Given the description of an element on the screen output the (x, y) to click on. 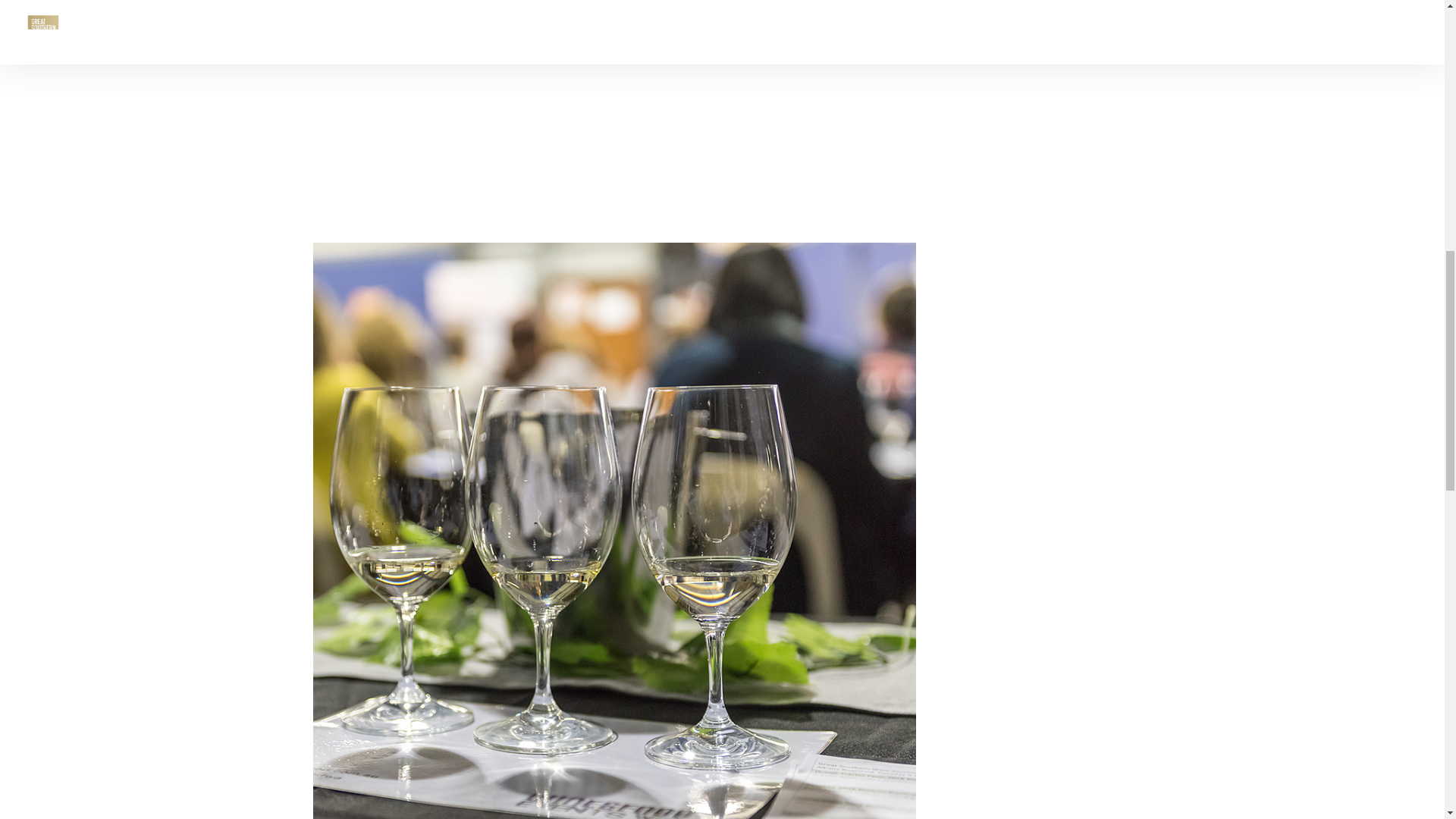
Great Southern Wine Journey (818, 33)
Porongurup (407, 100)
Albany (670, 82)
Frankland River (794, 82)
Mount Barker (595, 91)
Denmark (720, 82)
